Given the description of an element on the screen output the (x, y) to click on. 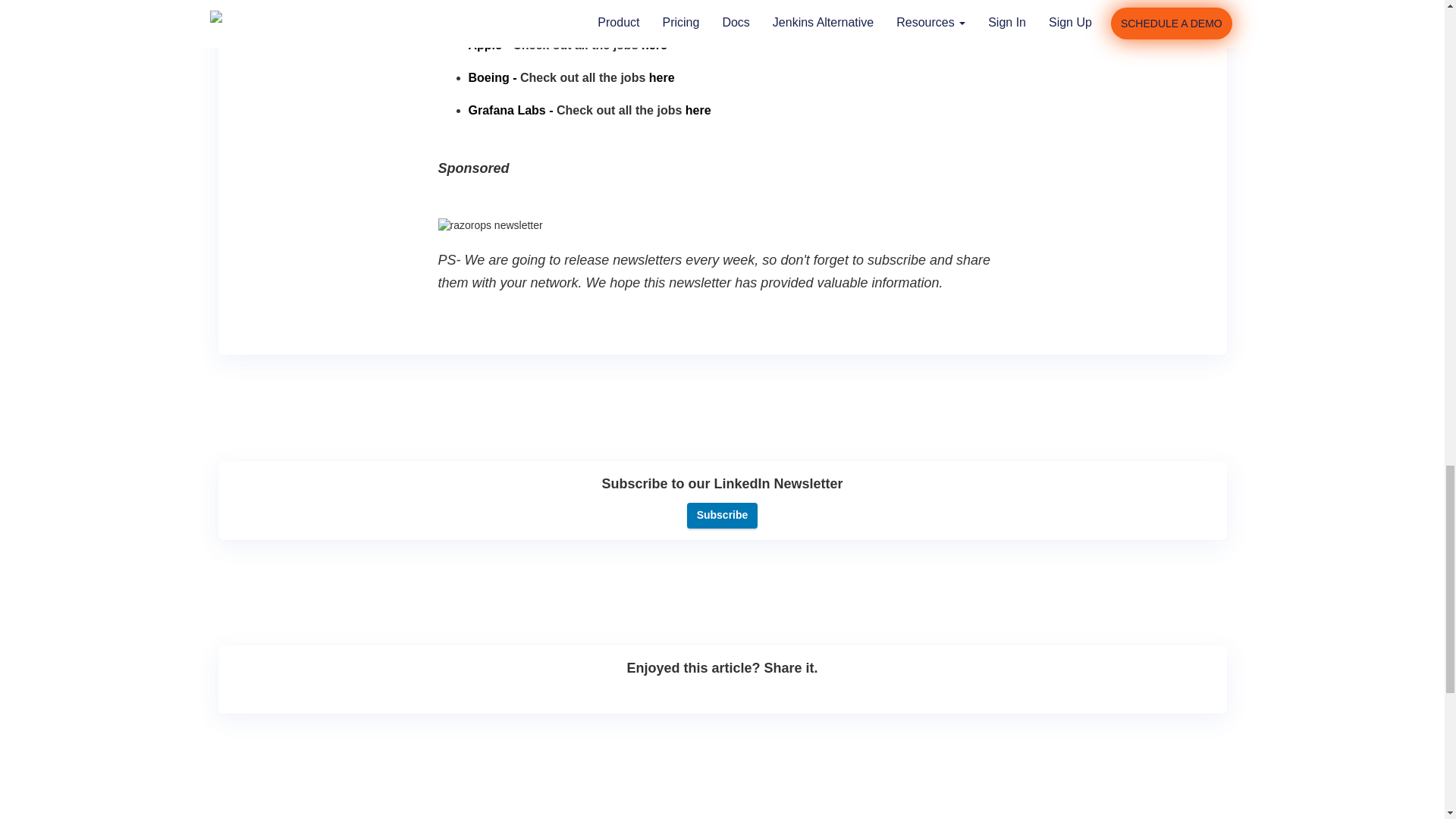
Grafana Labs - (510, 110)
Subscribe (722, 515)
Apple - (488, 44)
here (662, 77)
here (698, 110)
here (654, 44)
Boeing - (492, 77)
